Given the description of an element on the screen output the (x, y) to click on. 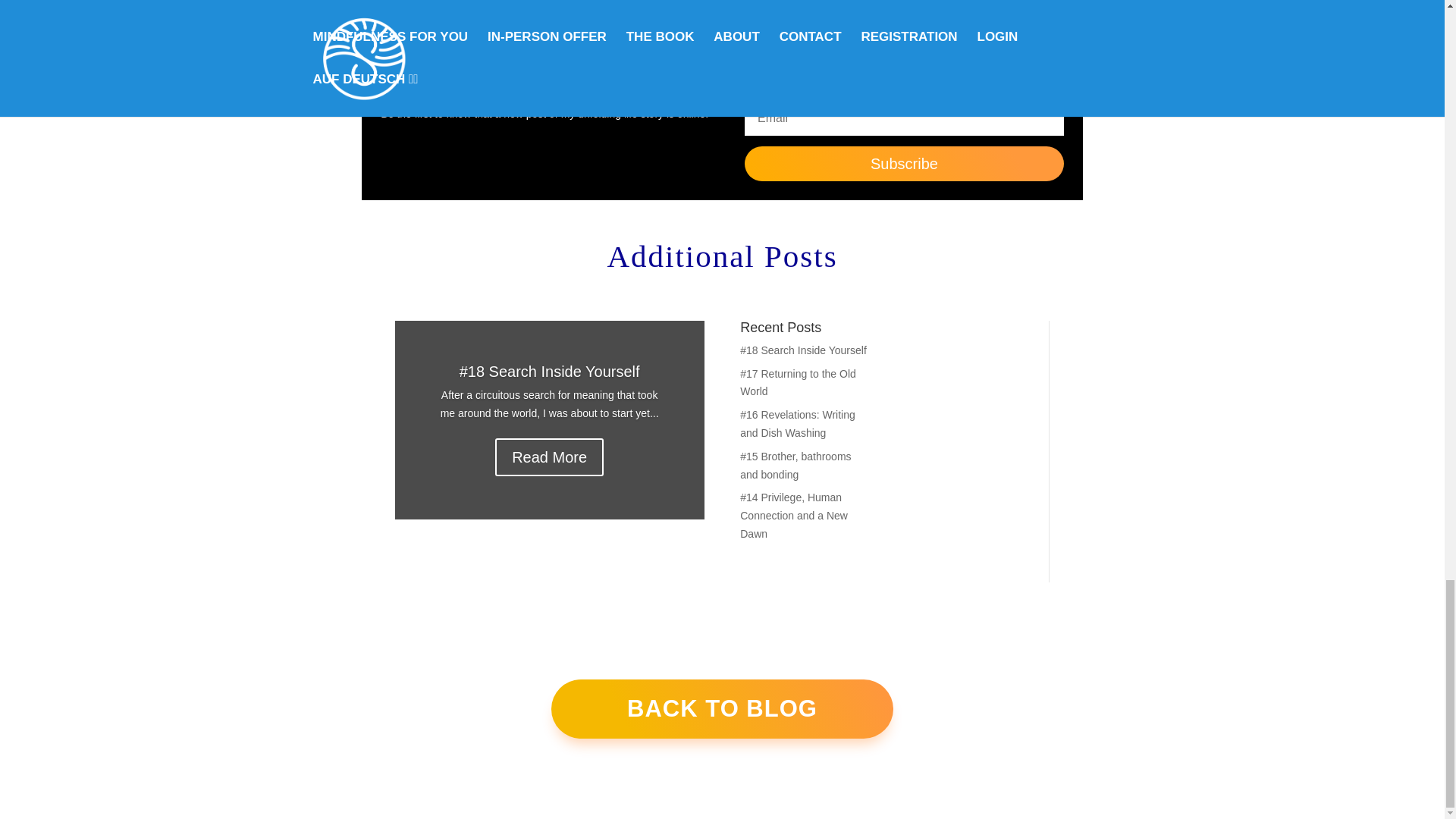
Read More (549, 456)
Subscribe (903, 163)
